Given the description of an element on the screen output the (x, y) to click on. 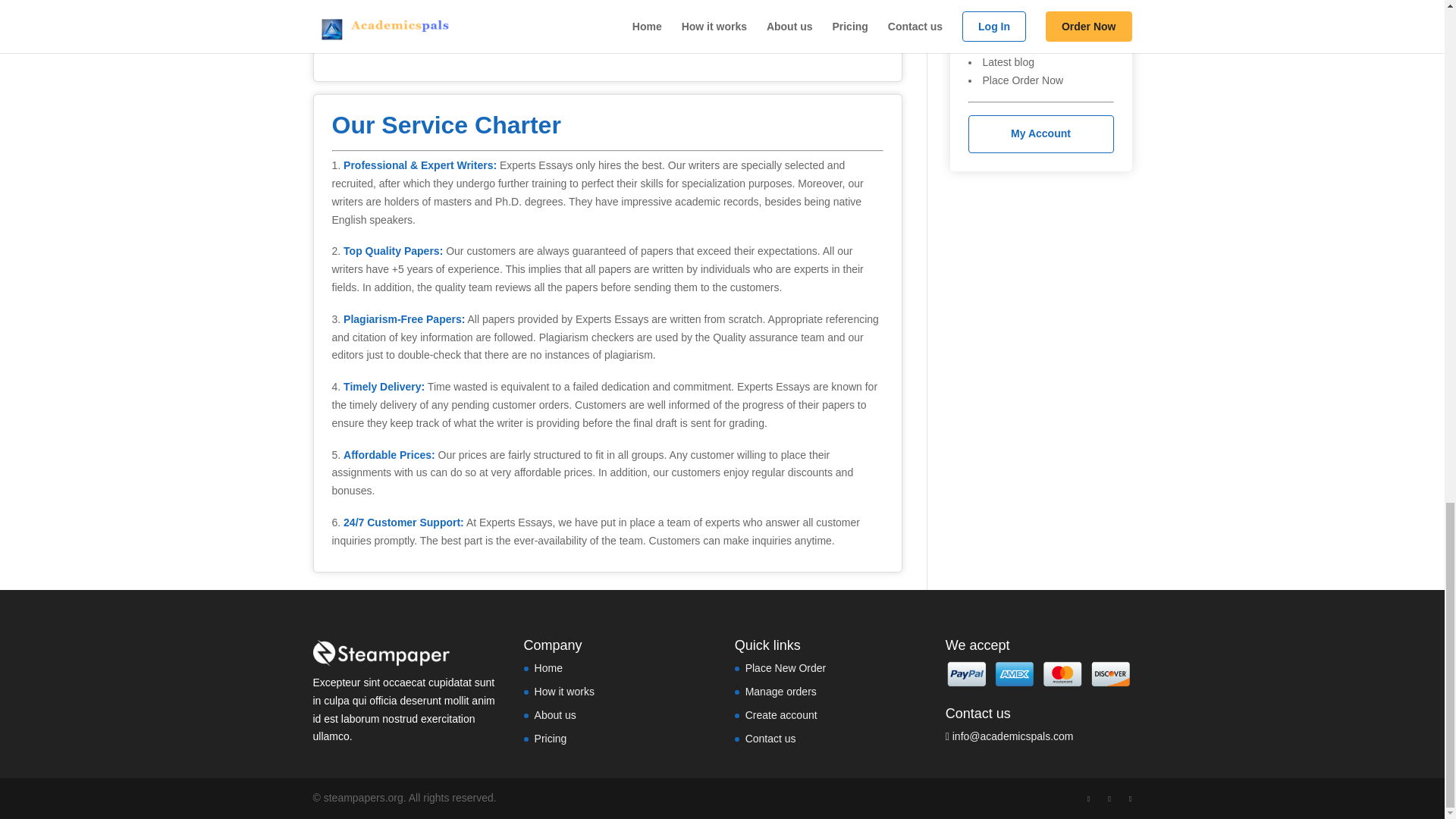
My Account (1040, 134)
Contact us (770, 738)
About us (555, 715)
Latest blog (1008, 61)
Home (548, 667)
Pricing (550, 738)
Place New Order (786, 667)
Pricing (998, 43)
How it works (1012, 7)
Manage orders (780, 691)
